Given the description of an element on the screen output the (x, y) to click on. 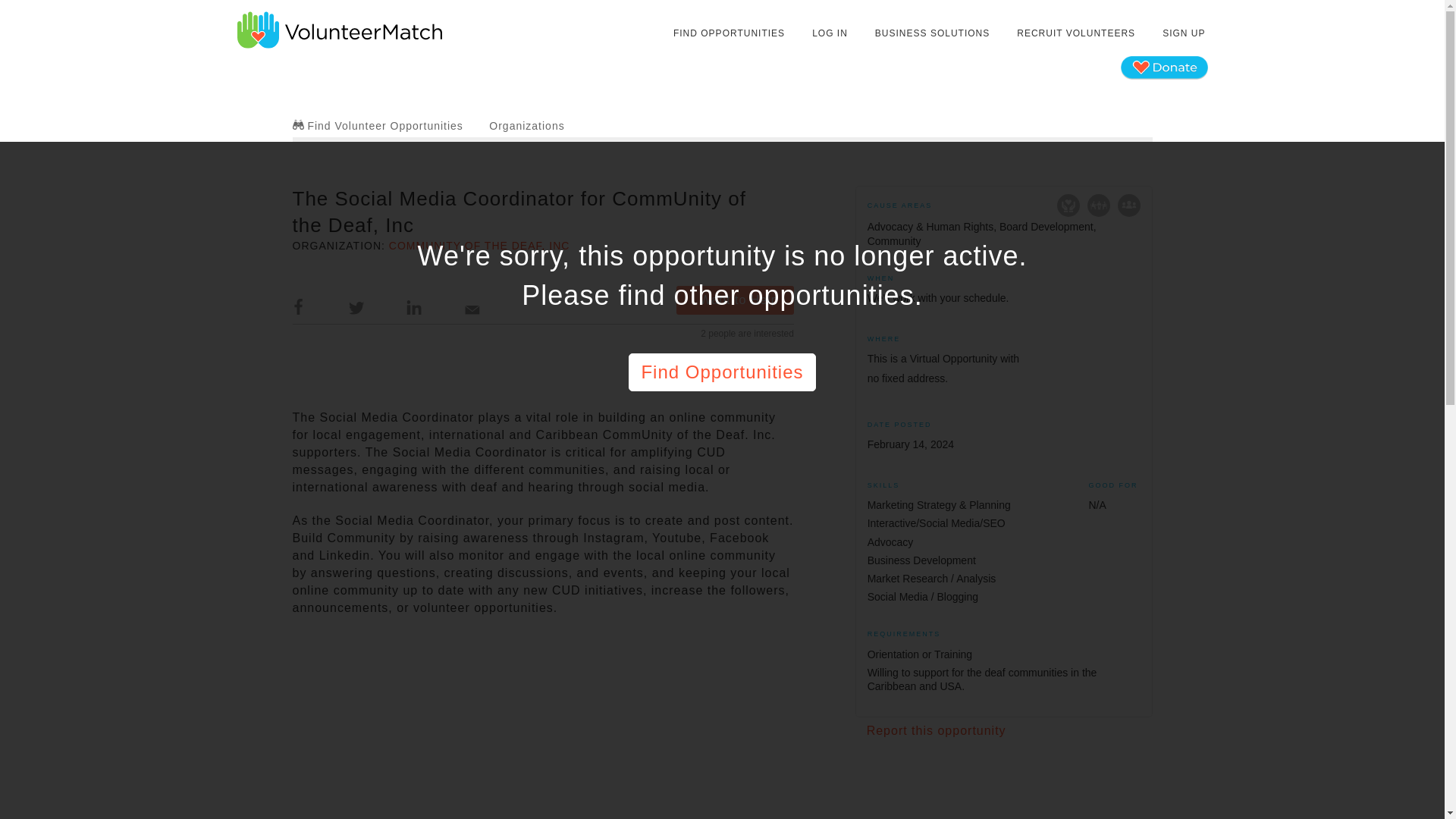
Organizations (526, 125)
BUSINESS SOLUTIONS (931, 32)
I Want to Help (735, 299)
Report this opportunity (936, 730)
Find Opportunities (721, 371)
Find Volunteer Opportunities (377, 125)
COMMUNITY OF THE DEAF, INC (479, 245)
Community (1129, 205)
FIND OPPORTUNITIES (729, 32)
LOG IN (829, 32)
